Given the description of an element on the screen output the (x, y) to click on. 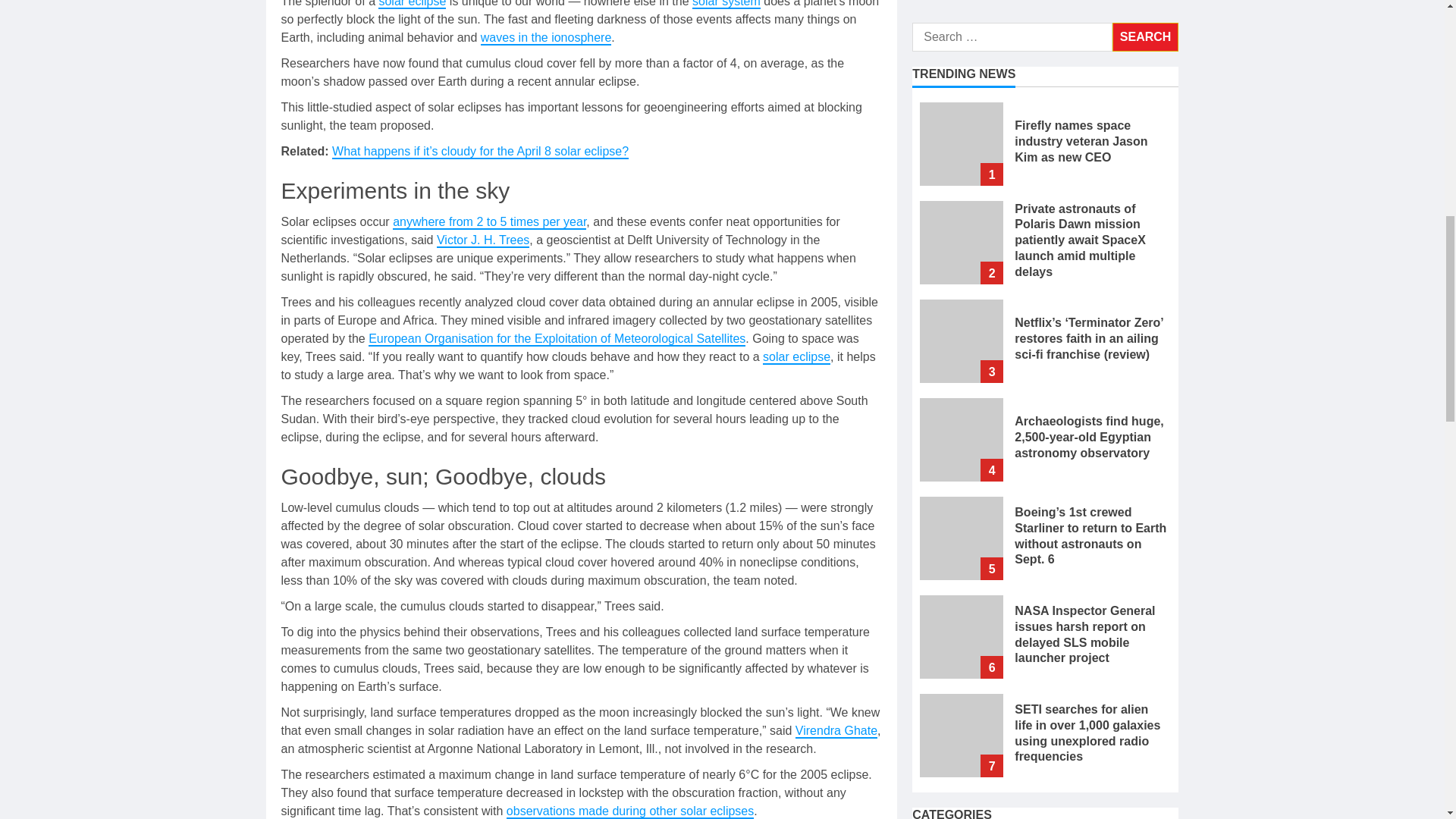
solar eclipse (411, 4)
solar system (726, 4)
waves in the ionosphere (545, 38)
